Given the description of an element on the screen output the (x, y) to click on. 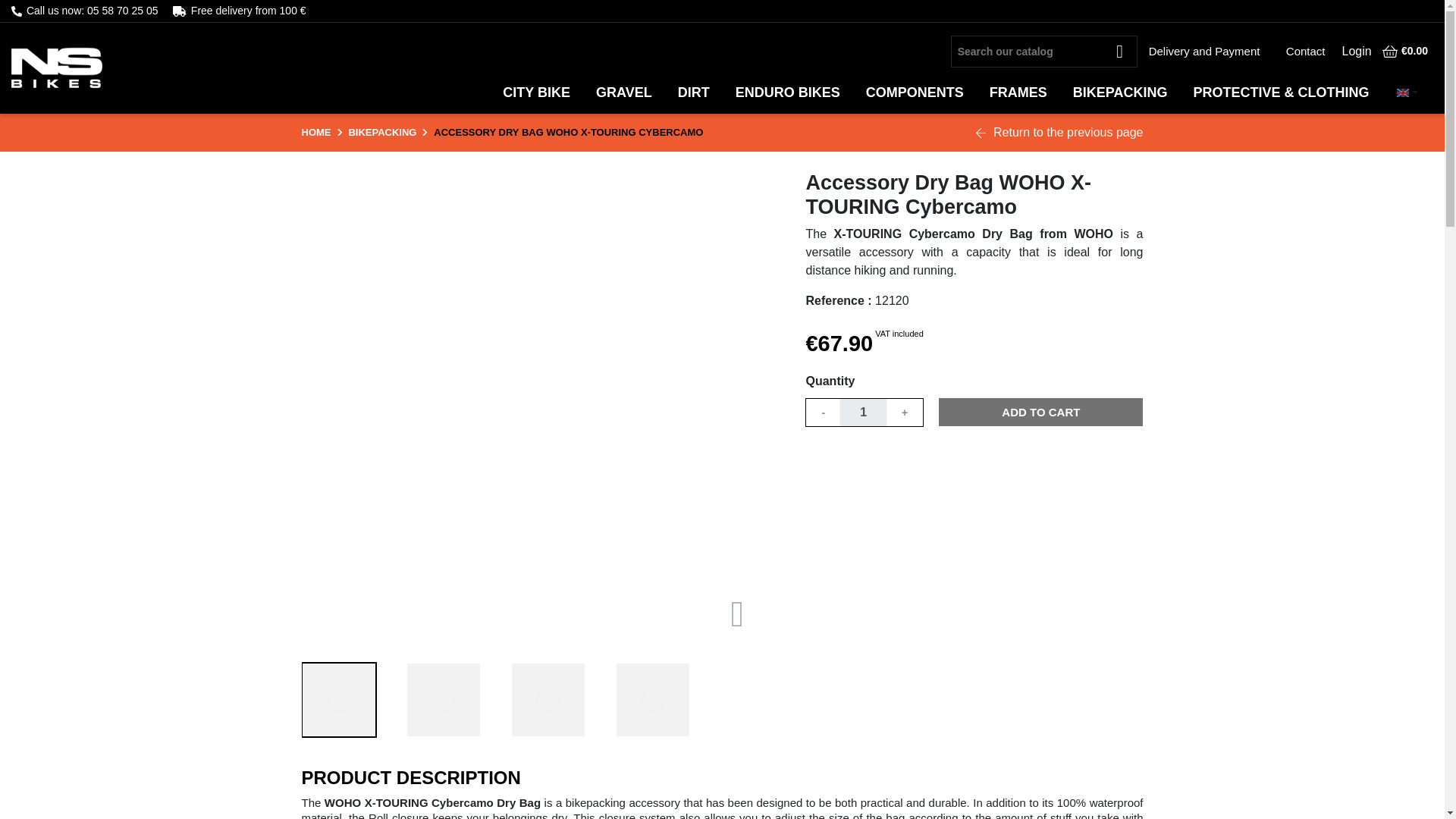
GRAVEL (624, 91)
1 (863, 411)
Payment security and delivery methods (247, 10)
ADD TO CART (1040, 411)
My basket (1404, 50)
ENDURO BIKES (787, 91)
Log in to your customer account (1356, 50)
BIKEPACKING (381, 132)
Contact NS Bikes (1305, 50)
Delivery and Payment (1204, 50)
